Given the description of an element on the screen output the (x, y) to click on. 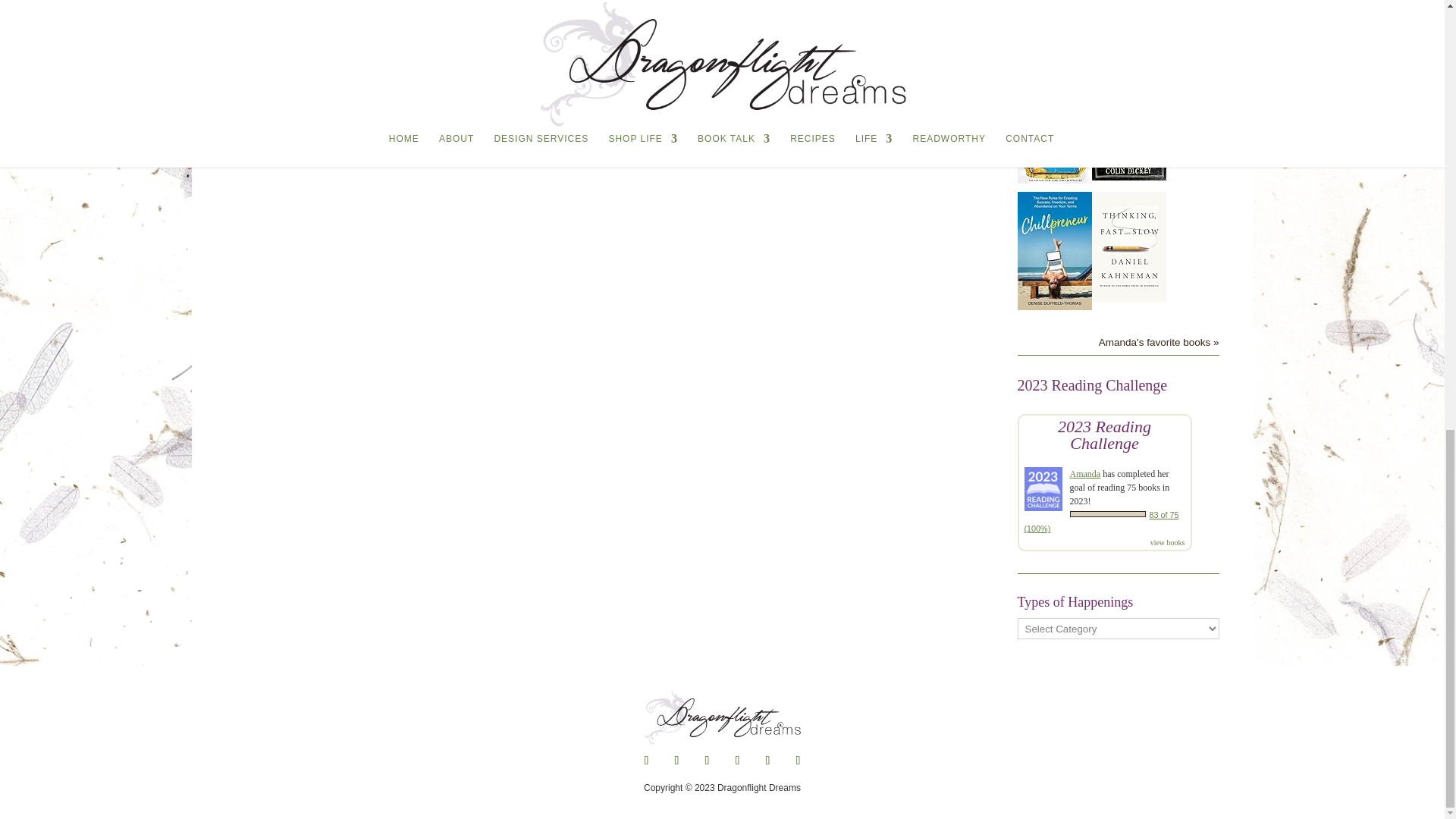
Follow on Instagram (737, 760)
Follow on RSS (797, 760)
Follow on X (675, 760)
read more (266, 9)
Follow on Pinterest (706, 760)
Follow on Facebook (645, 760)
Ghostland: An American History in Haunted Places (1129, 175)
Follow on Goodreads (766, 760)
Thinking, Fast and Slow (1129, 297)
dd-new-logo (722, 717)
Cloud Cuckoo Land (1054, 178)
